Given the description of an element on the screen output the (x, y) to click on. 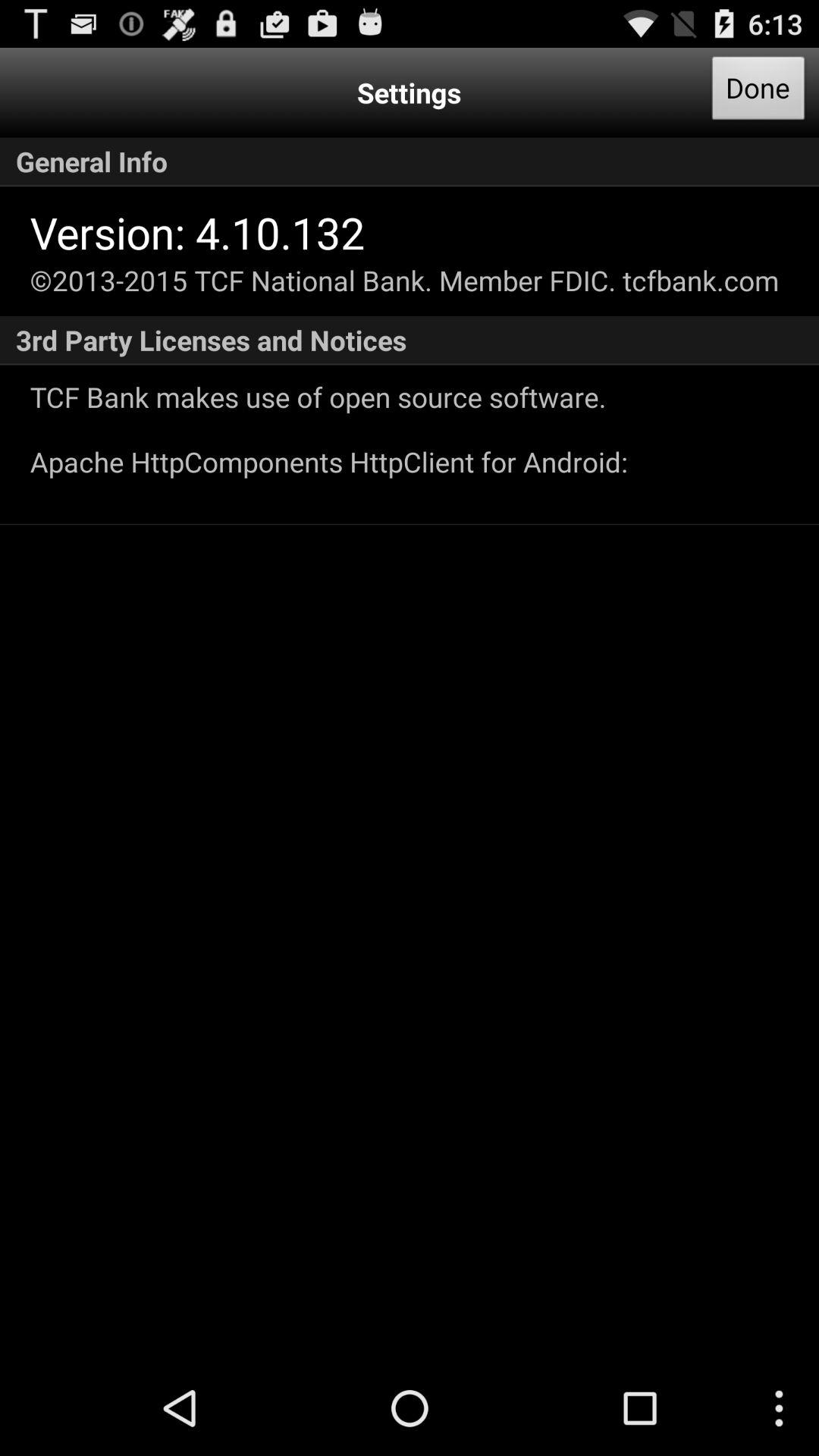
press icon below the 2013 2015 tcf (409, 340)
